Given the description of an element on the screen output the (x, y) to click on. 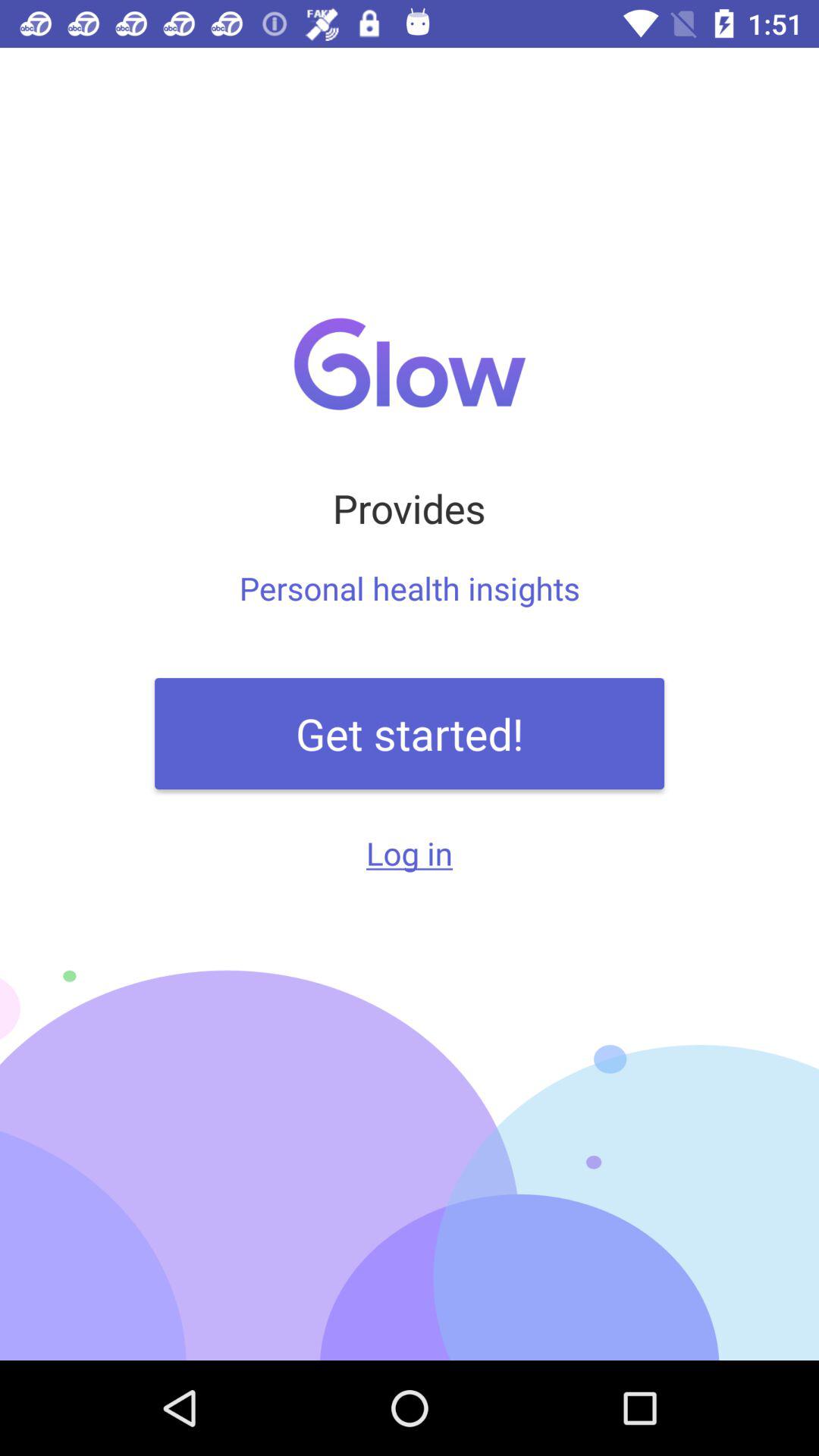
press log in icon (409, 852)
